Given the description of an element on the screen output the (x, y) to click on. 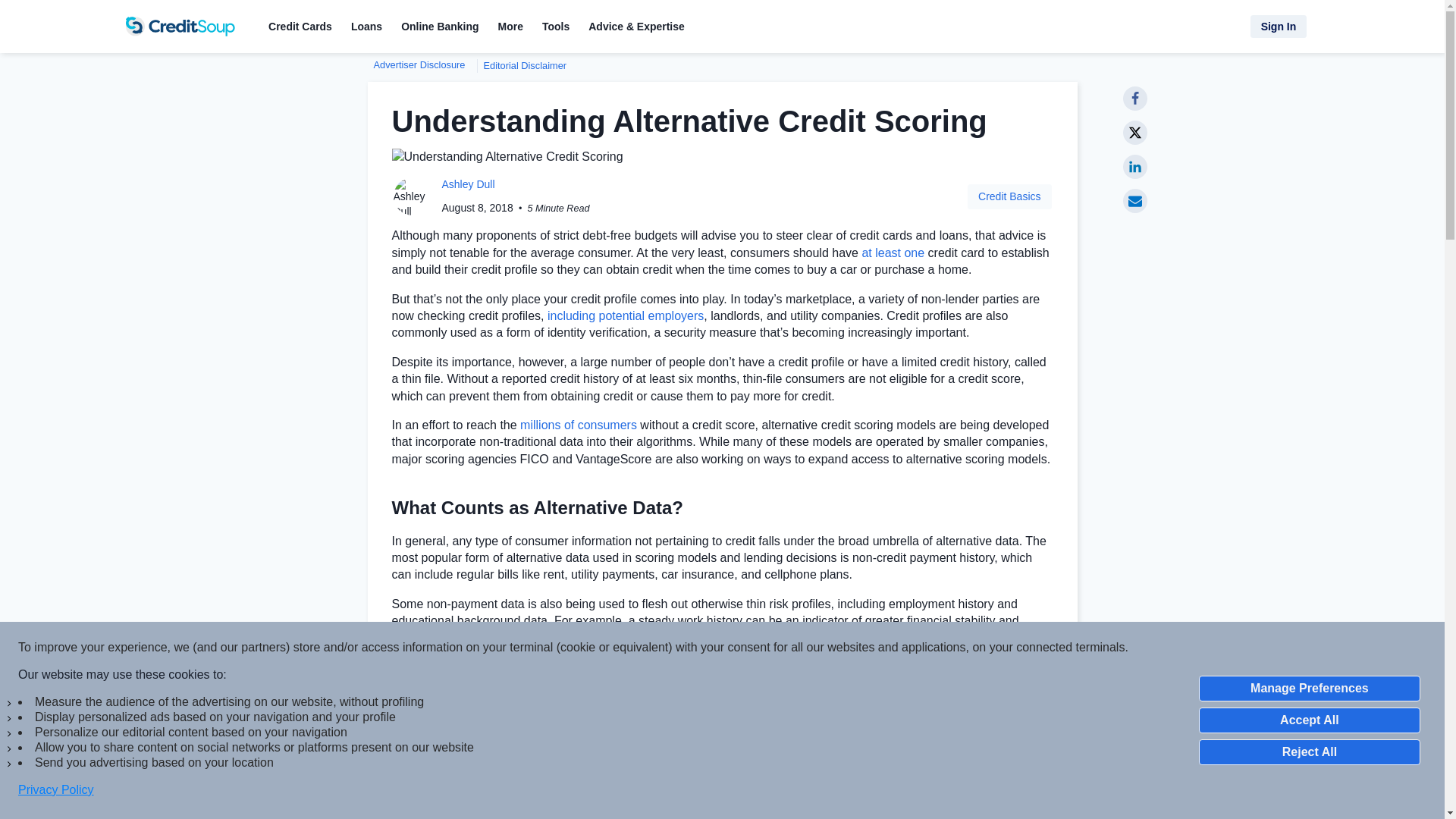
Editorial Disclaimer (521, 65)
Reject All (1309, 751)
Editorial Disclaimer (521, 65)
including potential employers (625, 315)
millions of consumers (578, 424)
Privacy Policy (55, 789)
at least one (892, 252)
Articles by Ashley Dull (468, 184)
Share on Facebook (1134, 98)
2018-08-08T00:00:00-05:00 (478, 207)
